Given the description of an element on the screen output the (x, y) to click on. 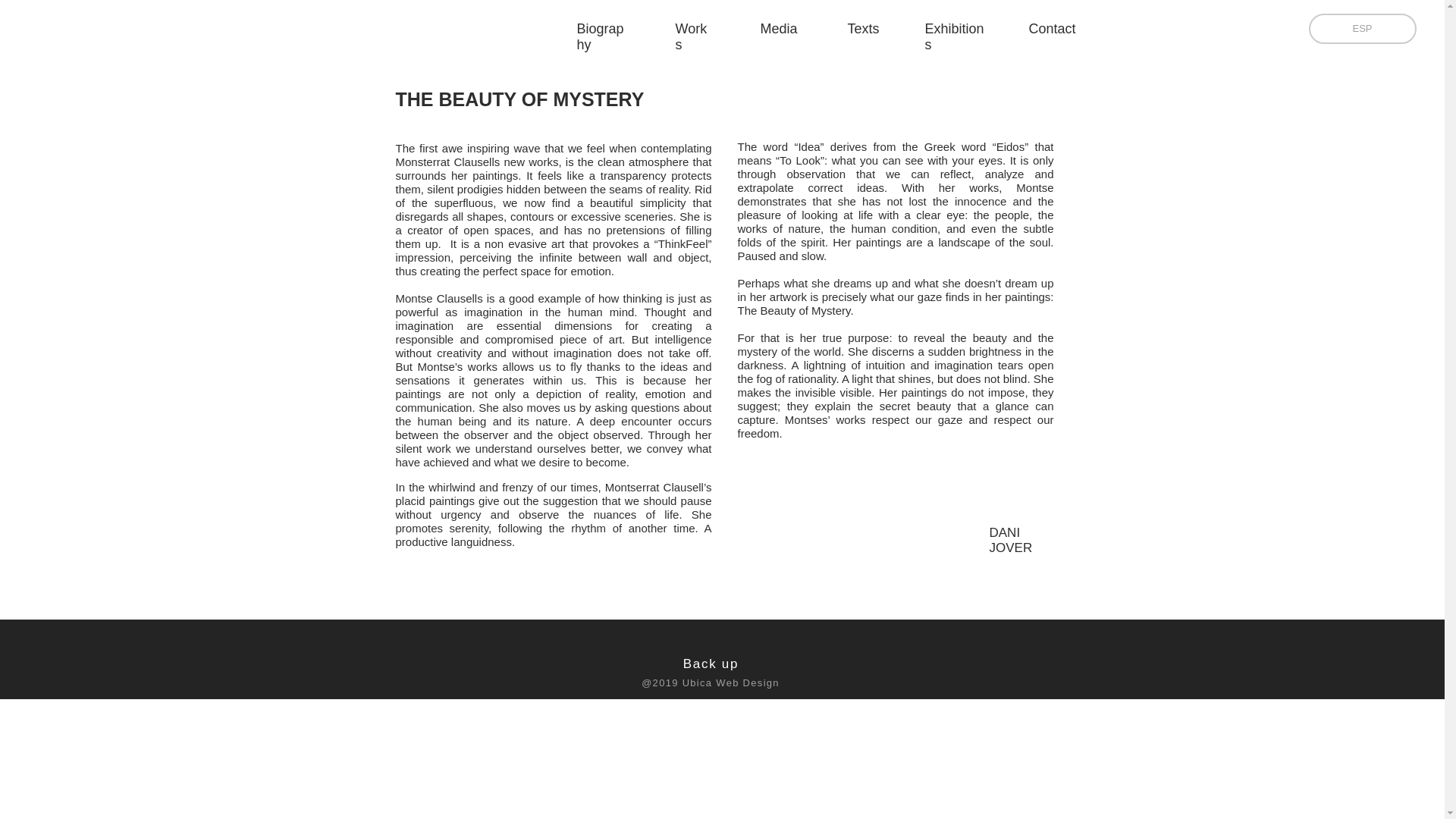
ESP (1362, 28)
Works (690, 36)
Texts (863, 28)
Media (778, 28)
Back up (710, 663)
Exhibitions (954, 36)
Contact (1051, 28)
Biography (599, 36)
